Given the description of an element on the screen output the (x, y) to click on. 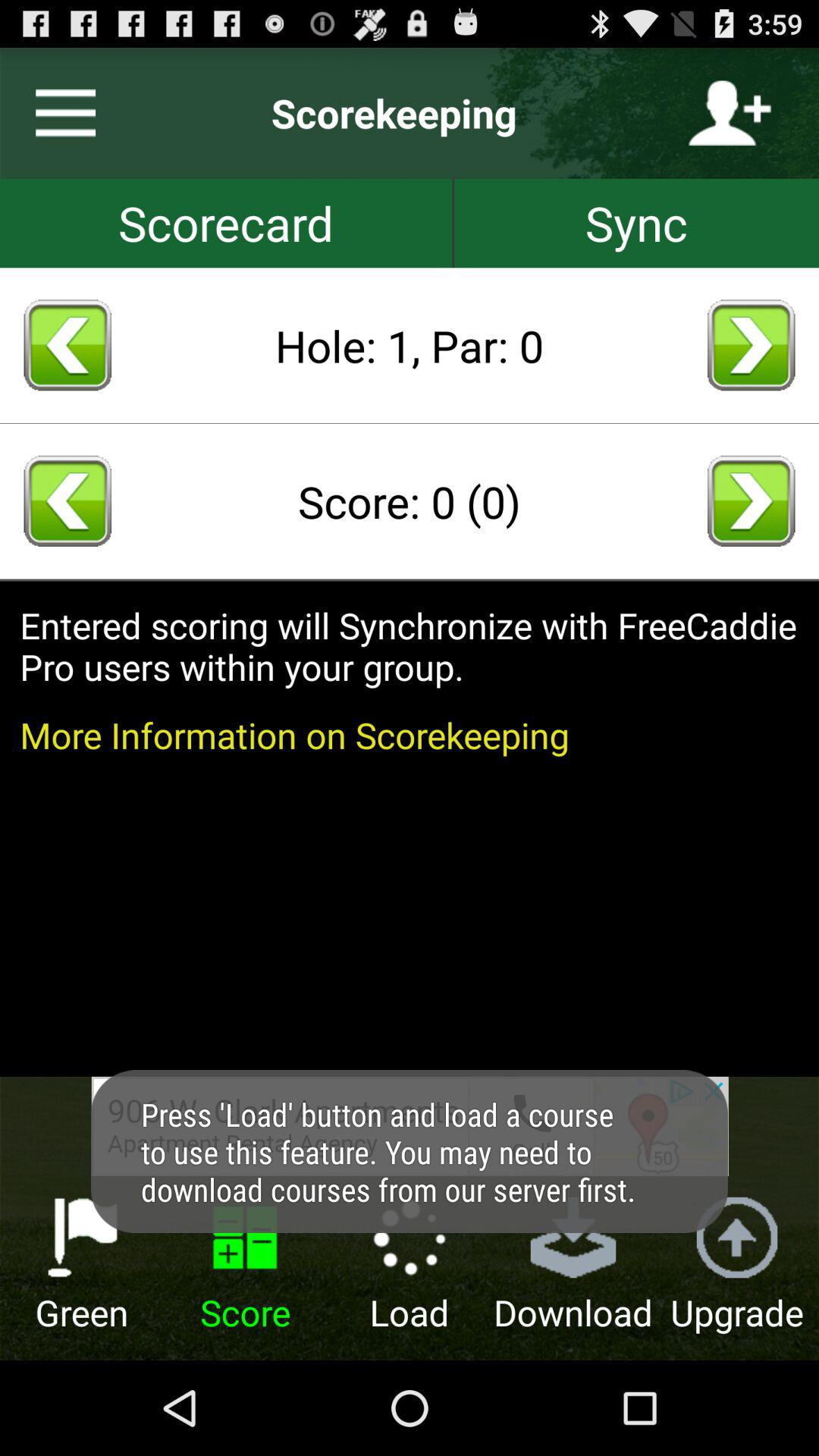
add contact (729, 112)
